Given the description of an element on the screen output the (x, y) to click on. 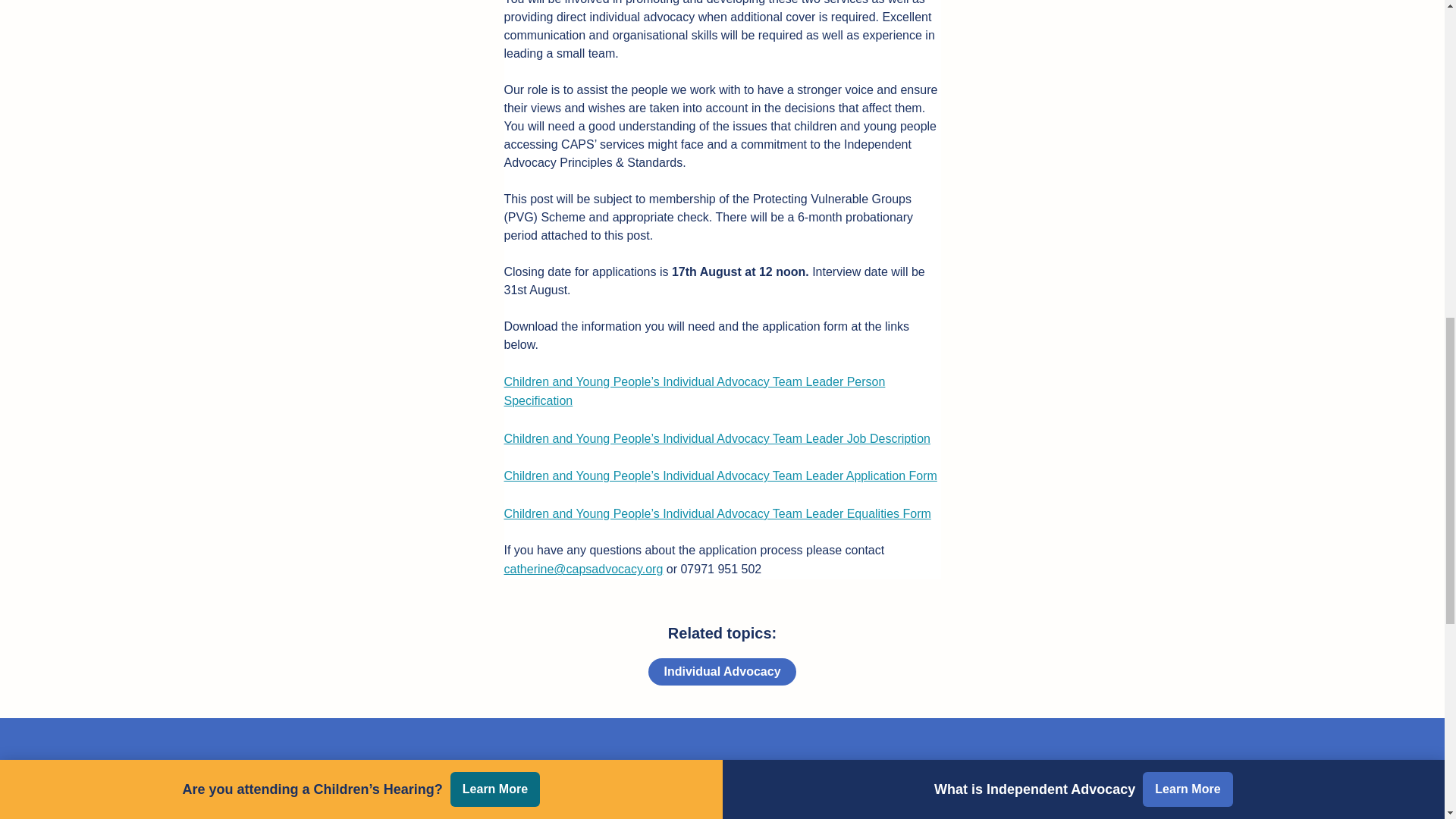
Individual Advocacy (720, 671)
Read our privacy policy (884, 818)
